Given the description of an element on the screen output the (x, y) to click on. 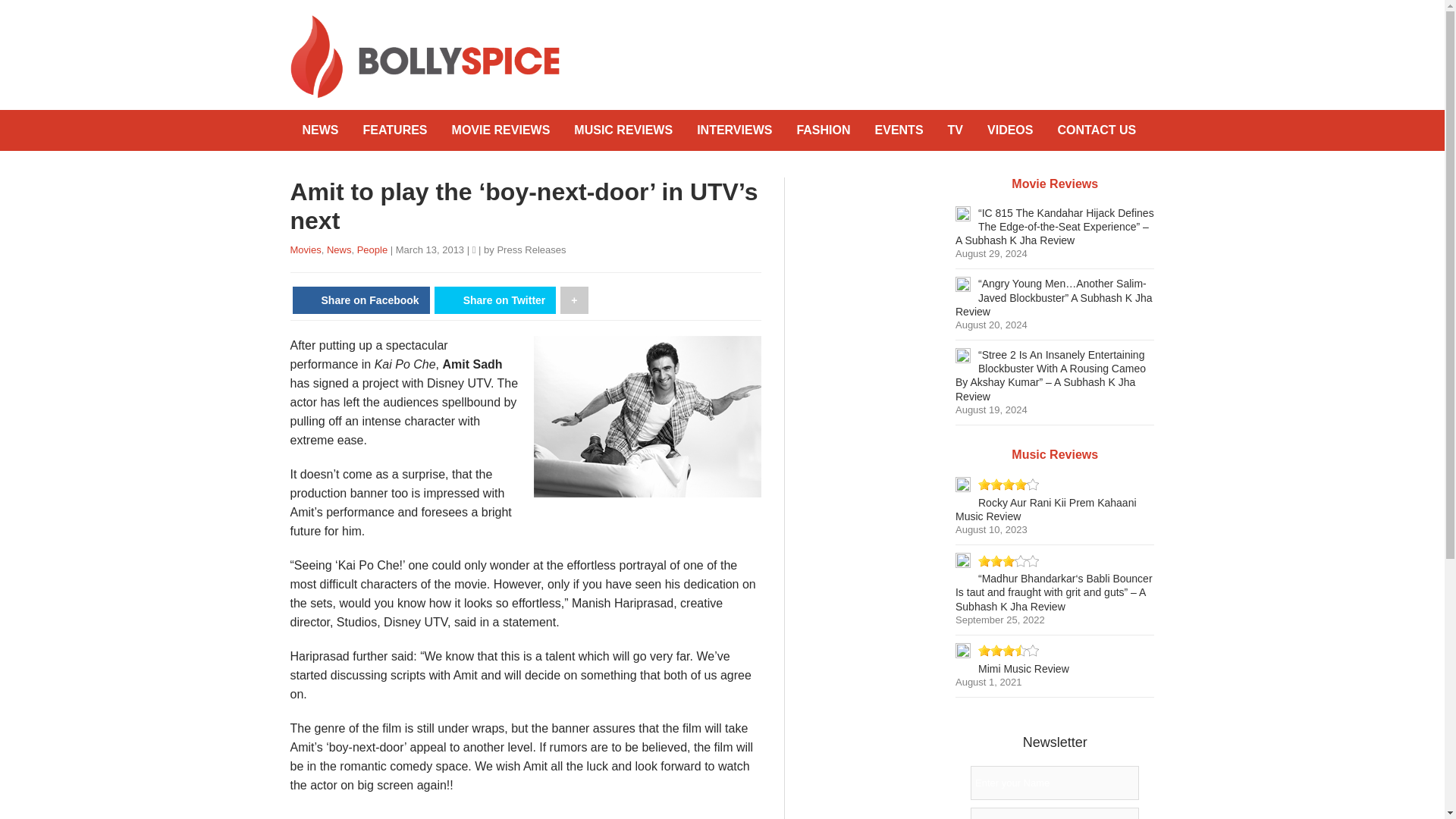
Press Releases (531, 249)
MUSIC REVIEWS (623, 130)
August 10, 2023 (991, 529)
August 19, 2024 (991, 409)
September 25, 2022 (1000, 619)
August 20, 2024 (991, 324)
EVENTS (899, 130)
Movies (304, 249)
VIDEOS (1010, 130)
August 29, 2024 (991, 253)
